Given the description of an element on the screen output the (x, y) to click on. 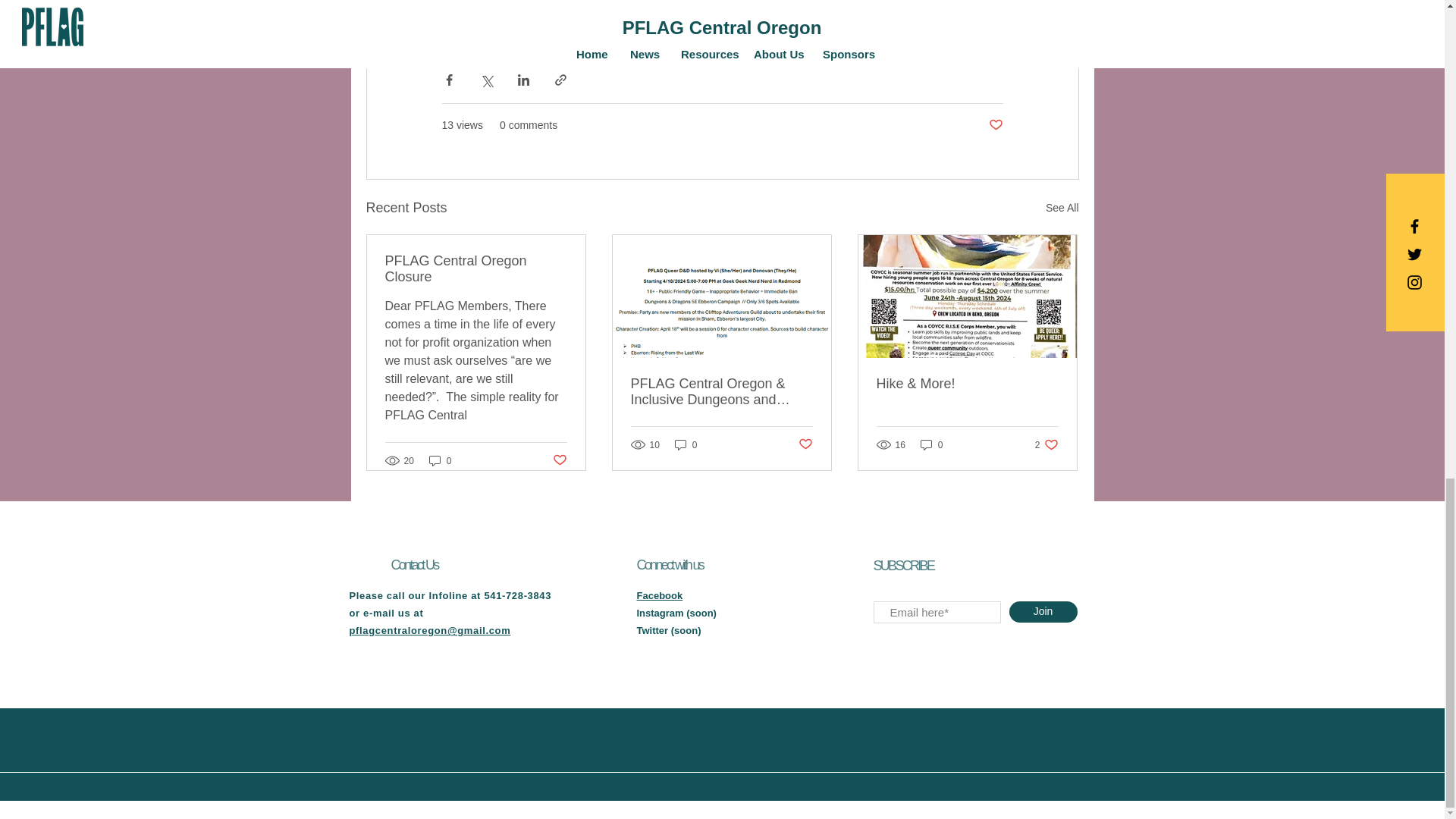
Post not marked as liked (558, 460)
0 (440, 460)
Join (1043, 611)
PFLAG Central Oregon Closure (476, 269)
Post not marked as liked (1046, 444)
0 (995, 125)
0 (685, 444)
Post not marked as liked (931, 444)
Facebook (804, 444)
